Given the description of an element on the screen output the (x, y) to click on. 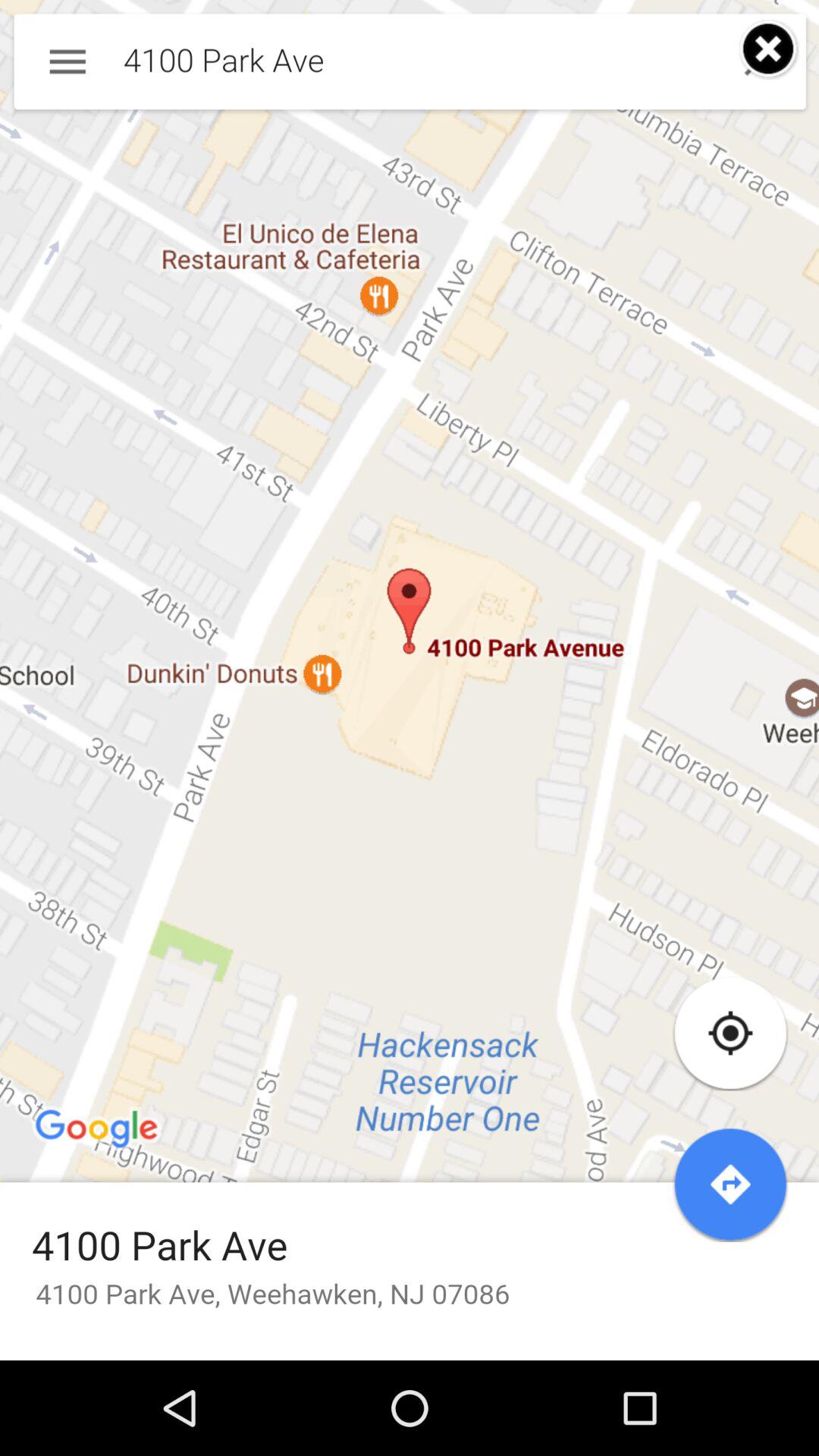
exit option (769, 49)
